Given the description of an element on the screen output the (x, y) to click on. 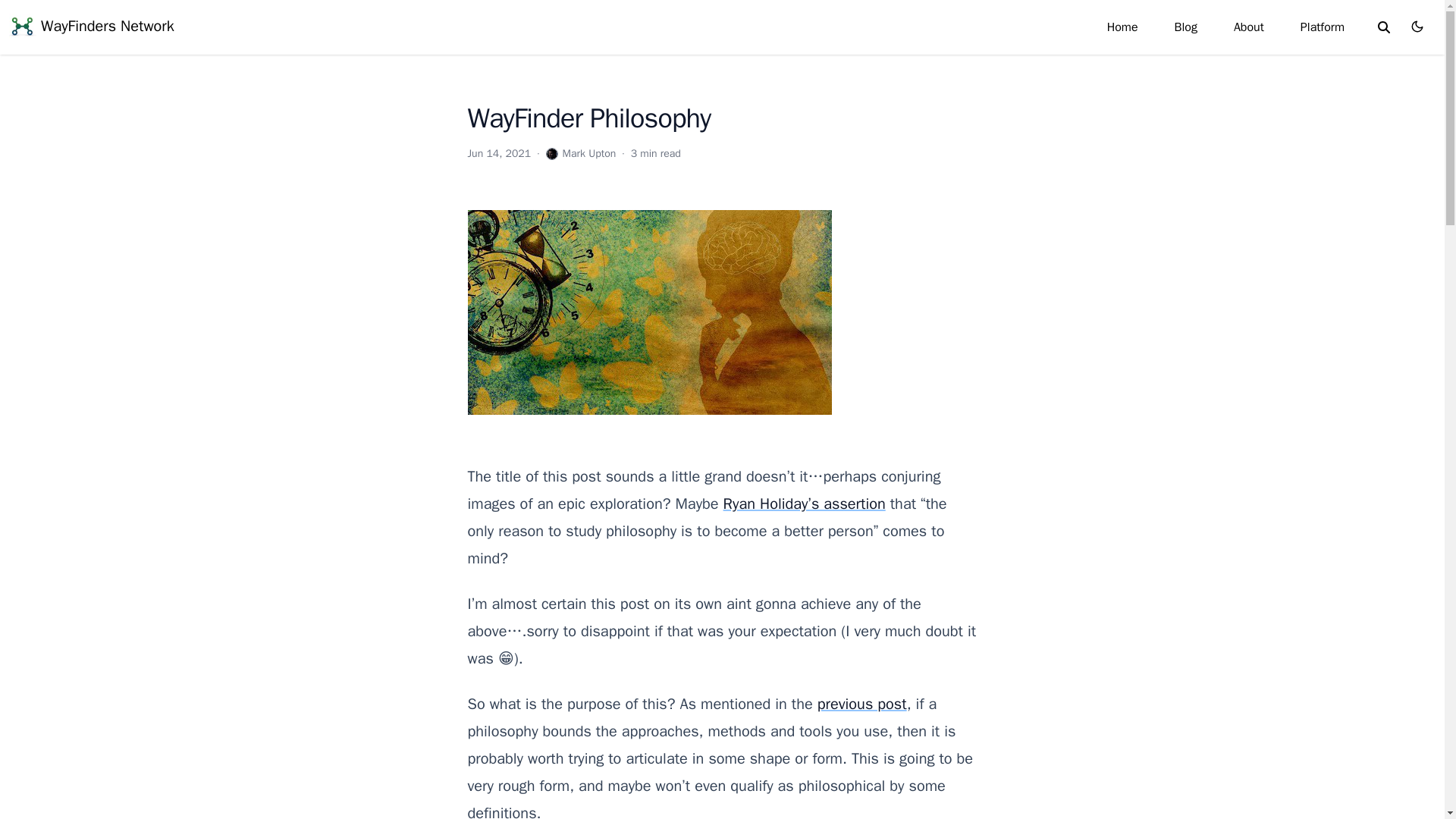
WayFinders Network (91, 26)
Blog (1186, 27)
About (1248, 27)
Platform (1322, 27)
Home (1122, 27)
previous post (861, 703)
WayFinders Network (91, 26)
appearance (1416, 26)
